Given the description of an element on the screen output the (x, y) to click on. 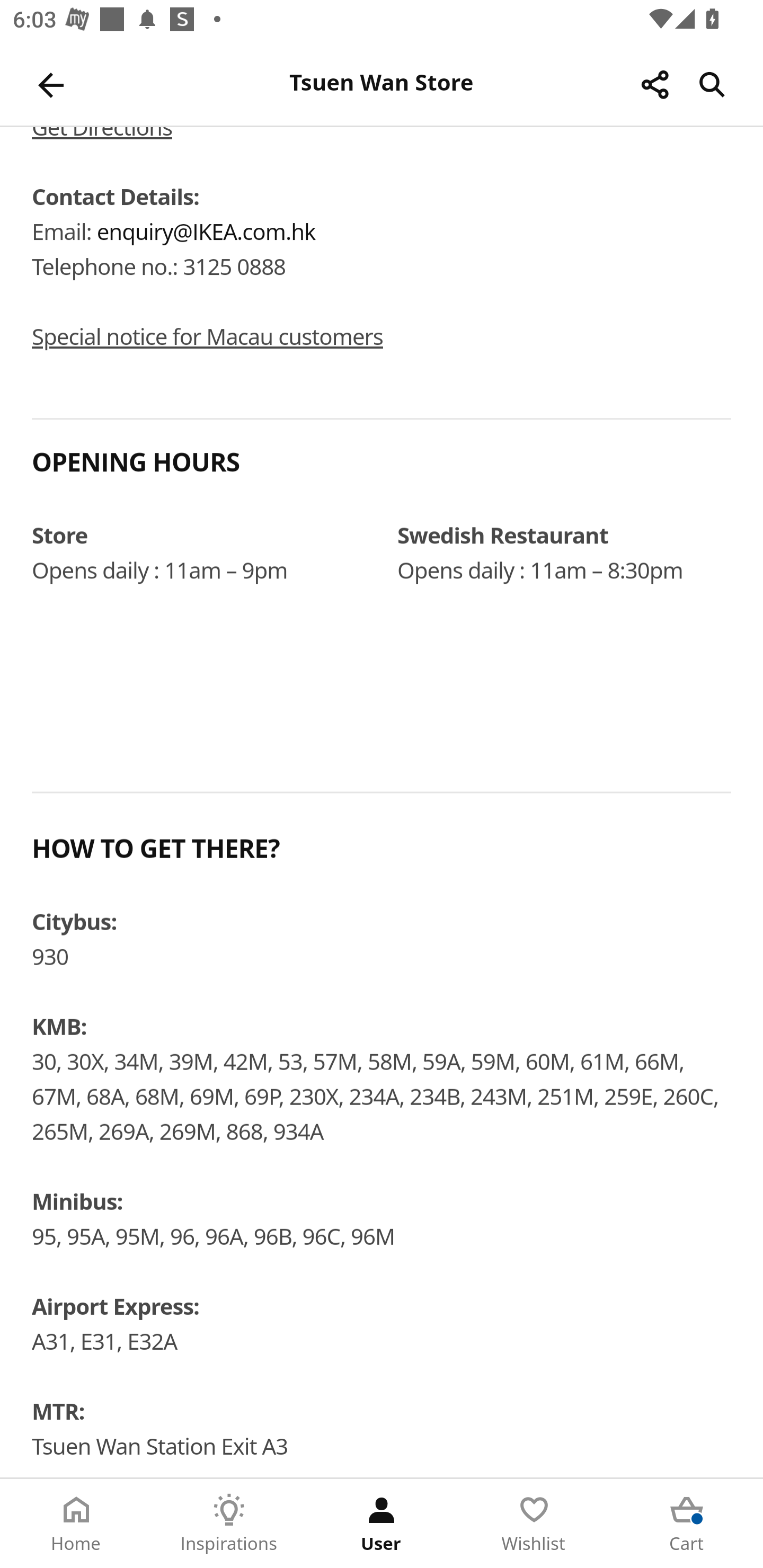
enquiry@IKEA.com.hk (205, 233)
Special notice for Macau customers (207, 338)
Home
Tab 1 of 5 (76, 1522)
Inspirations
Tab 2 of 5 (228, 1522)
User
Tab 3 of 5 (381, 1522)
Wishlist
Tab 4 of 5 (533, 1522)
Cart
Tab 5 of 5 (686, 1522)
